Given the description of an element on the screen output the (x, y) to click on. 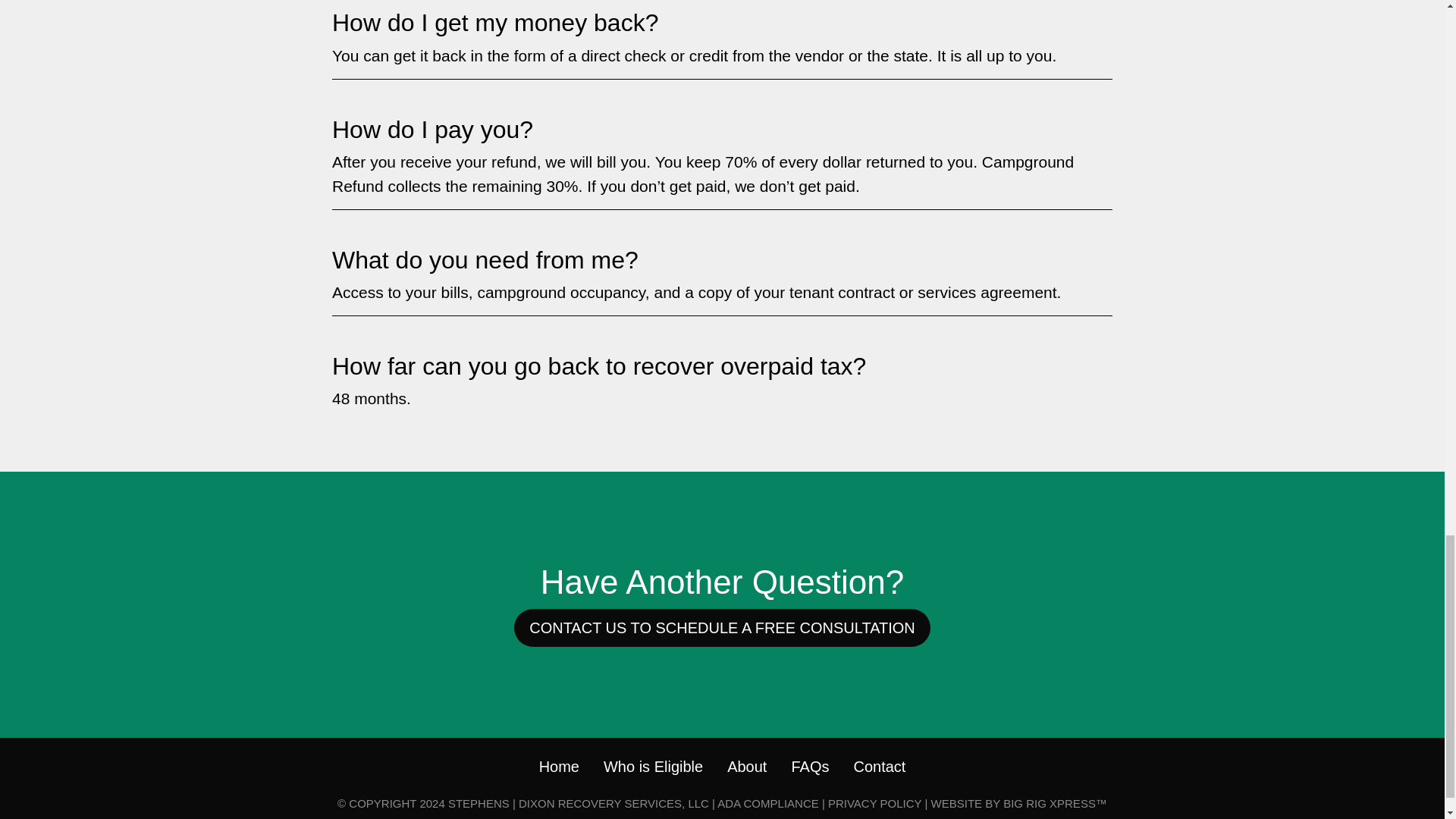
FAQs (809, 766)
Contact (879, 766)
ADA COMPLIANCE (767, 802)
Who is Eligible (653, 766)
About (746, 766)
PRIVACY POLICY (874, 802)
CONTACT US TO SCHEDULE A FREE CONSULTATION (721, 628)
Home (558, 766)
